Given the description of an element on the screen output the (x, y) to click on. 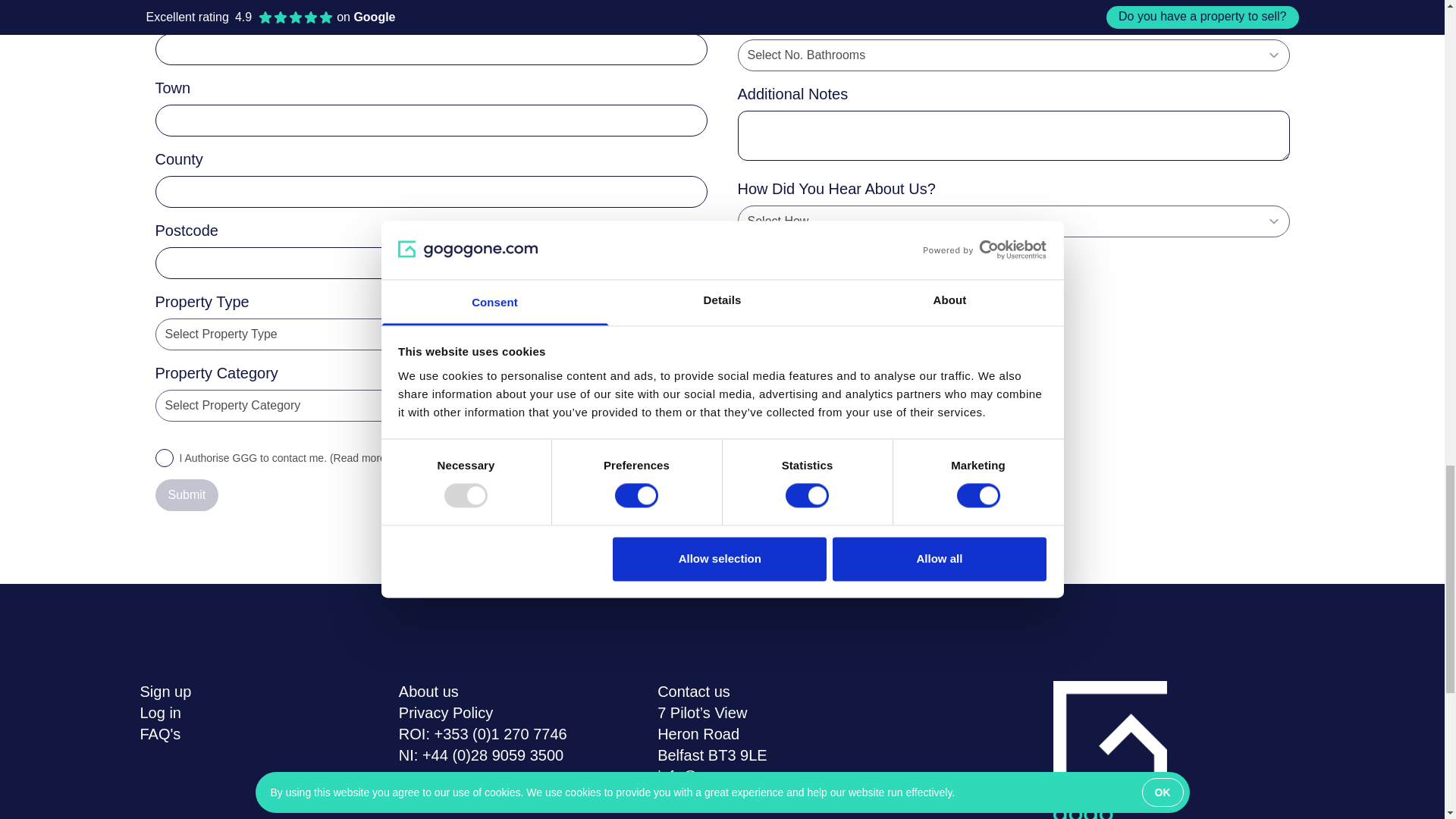
on (163, 457)
